Given the description of an element on the screen output the (x, y) to click on. 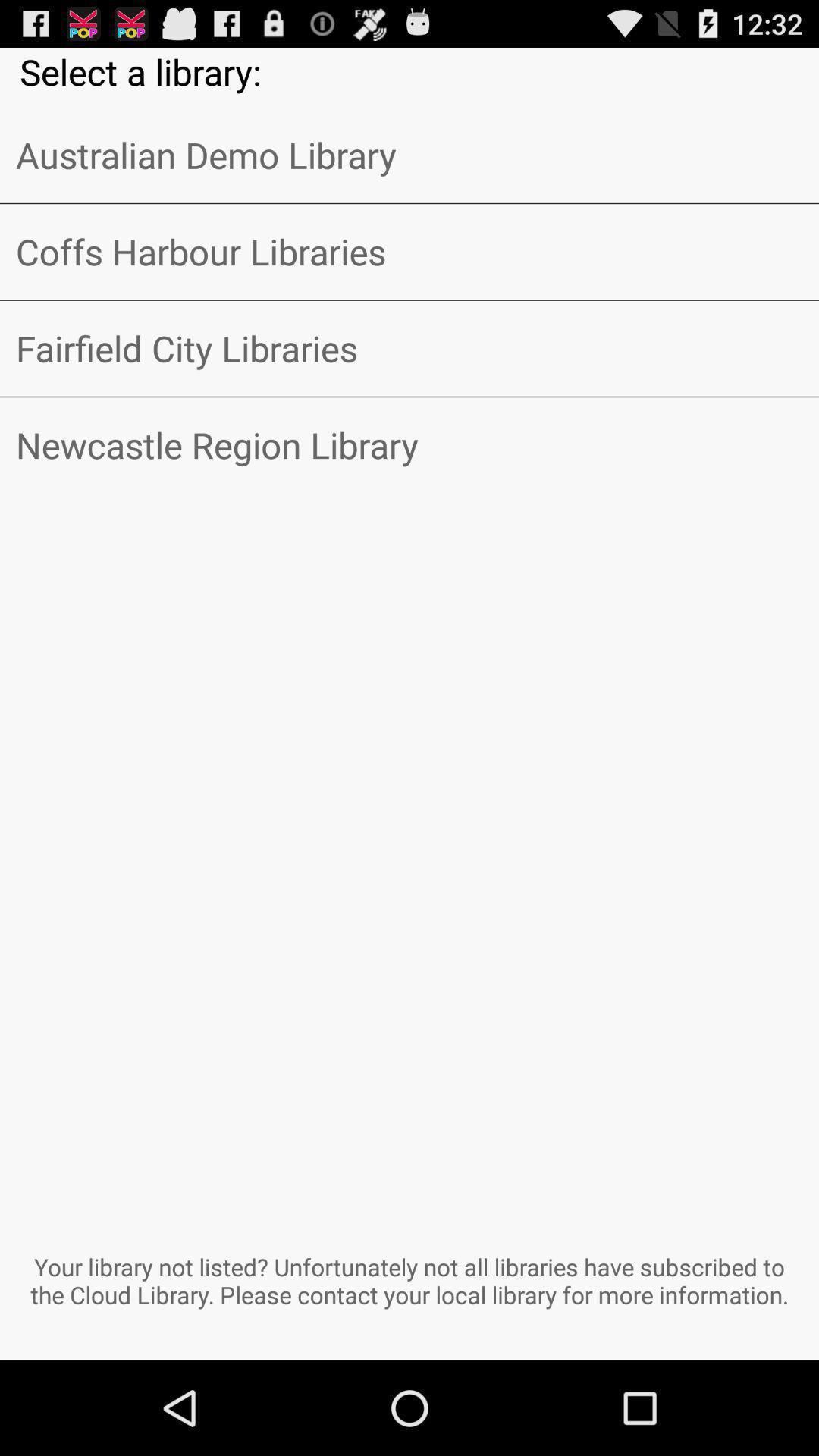
turn on the app above the coffs harbour libraries icon (409, 155)
